Given the description of an element on the screen output the (x, y) to click on. 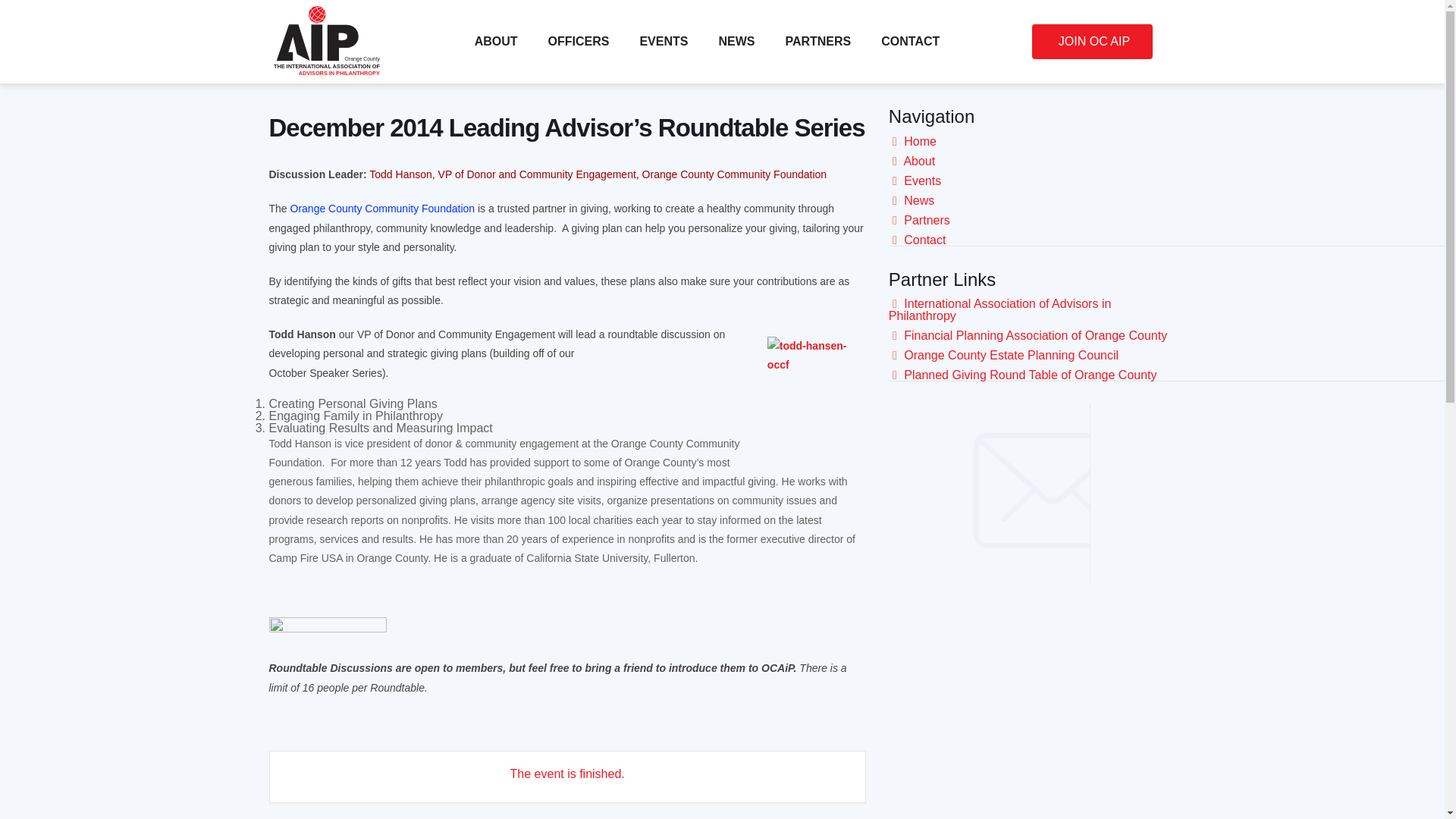
ABOUT (496, 41)
CONTACT (909, 41)
PARTNERS (817, 41)
Home (920, 141)
JOIN OC AIP (1092, 41)
EVENTS (663, 41)
OCAiP (326, 630)
NEWS (735, 41)
OFFICERS (578, 41)
Orange County Community Foundation (382, 208)
